Given the description of an element on the screen output the (x, y) to click on. 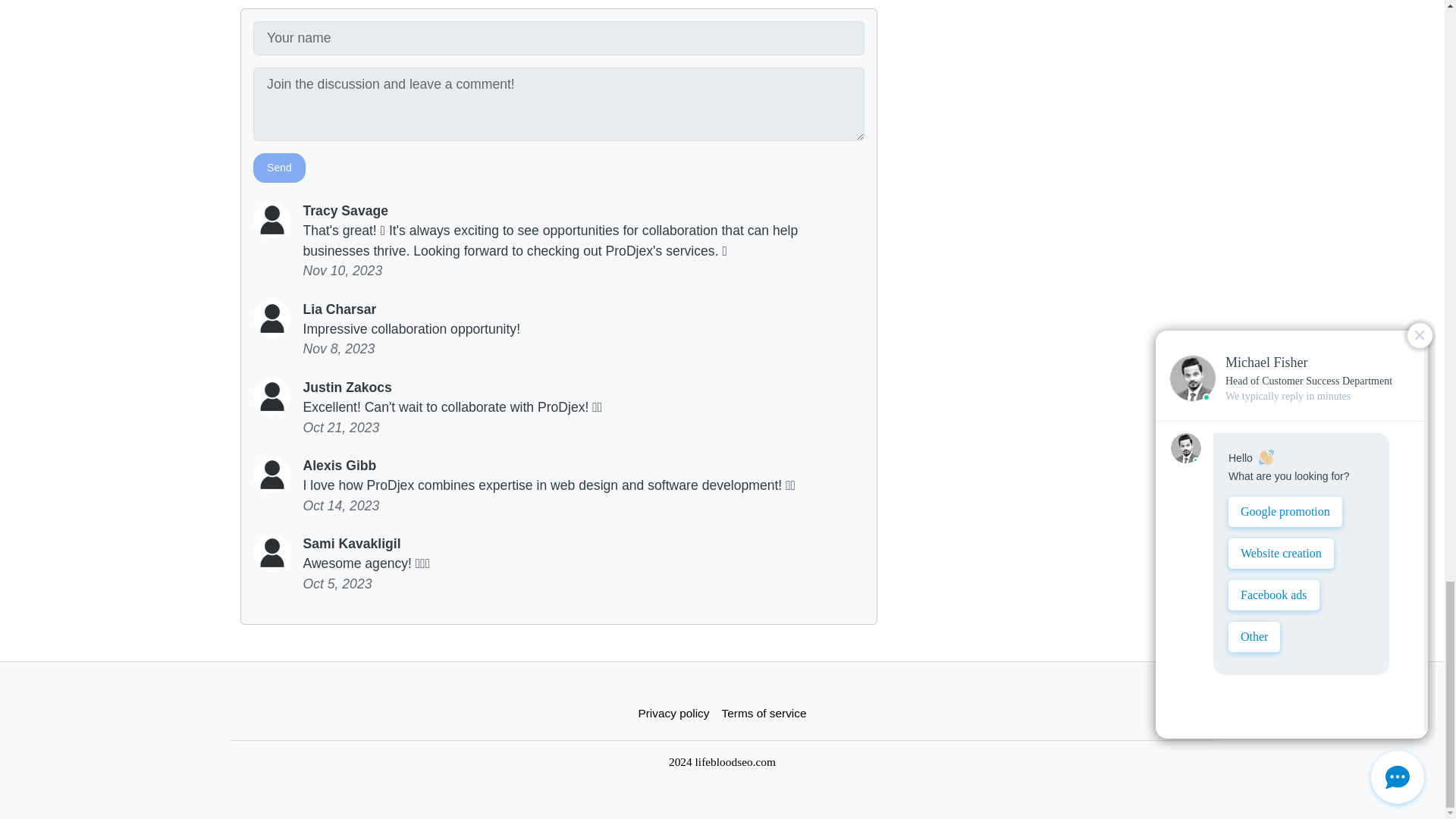
Send (279, 167)
Send (279, 167)
Terms of service (764, 713)
Privacy policy (672, 713)
